Given the description of an element on the screen output the (x, y) to click on. 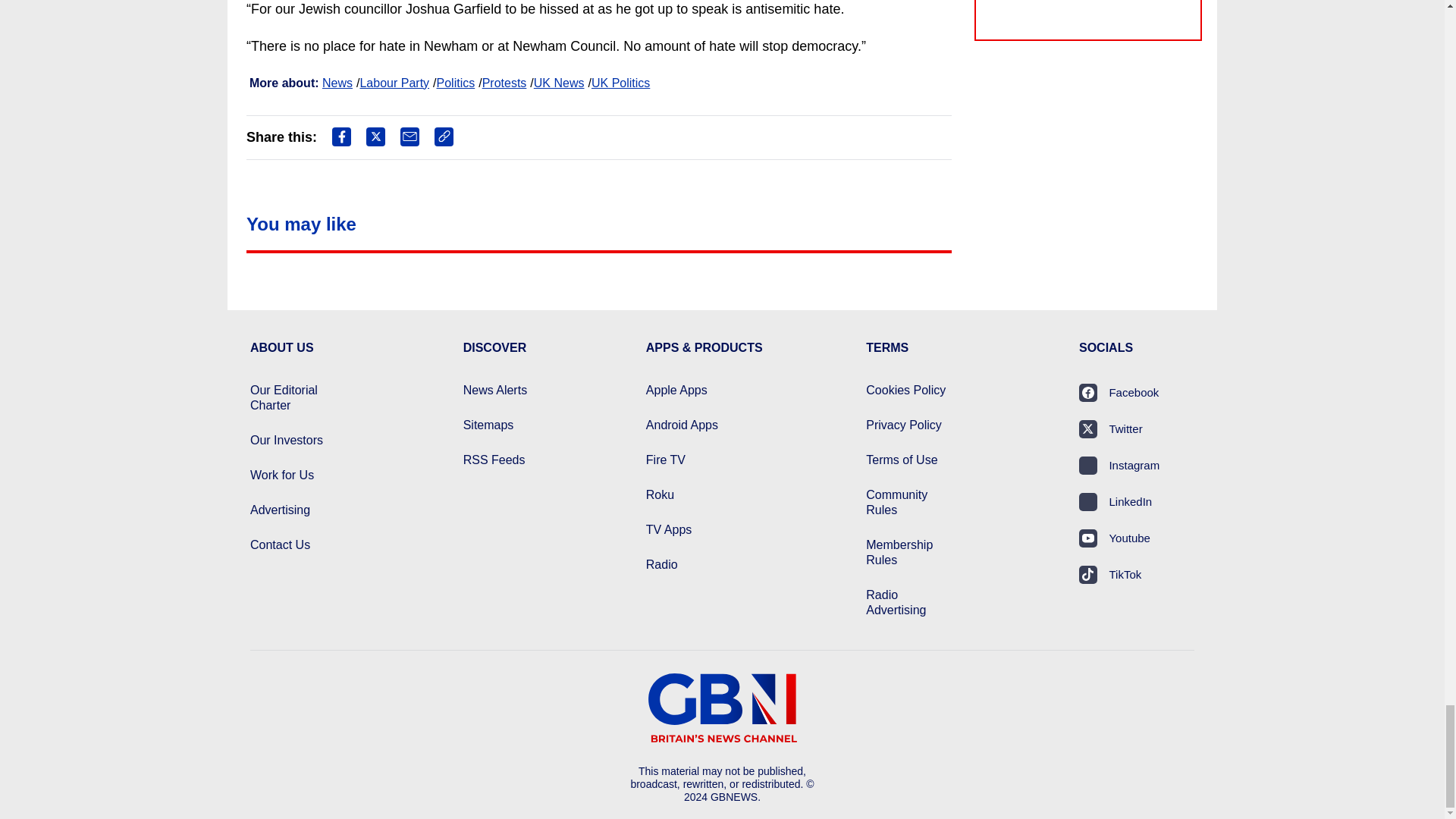
Copy this link to clipboard (442, 136)
